Given the description of an element on the screen output the (x, y) to click on. 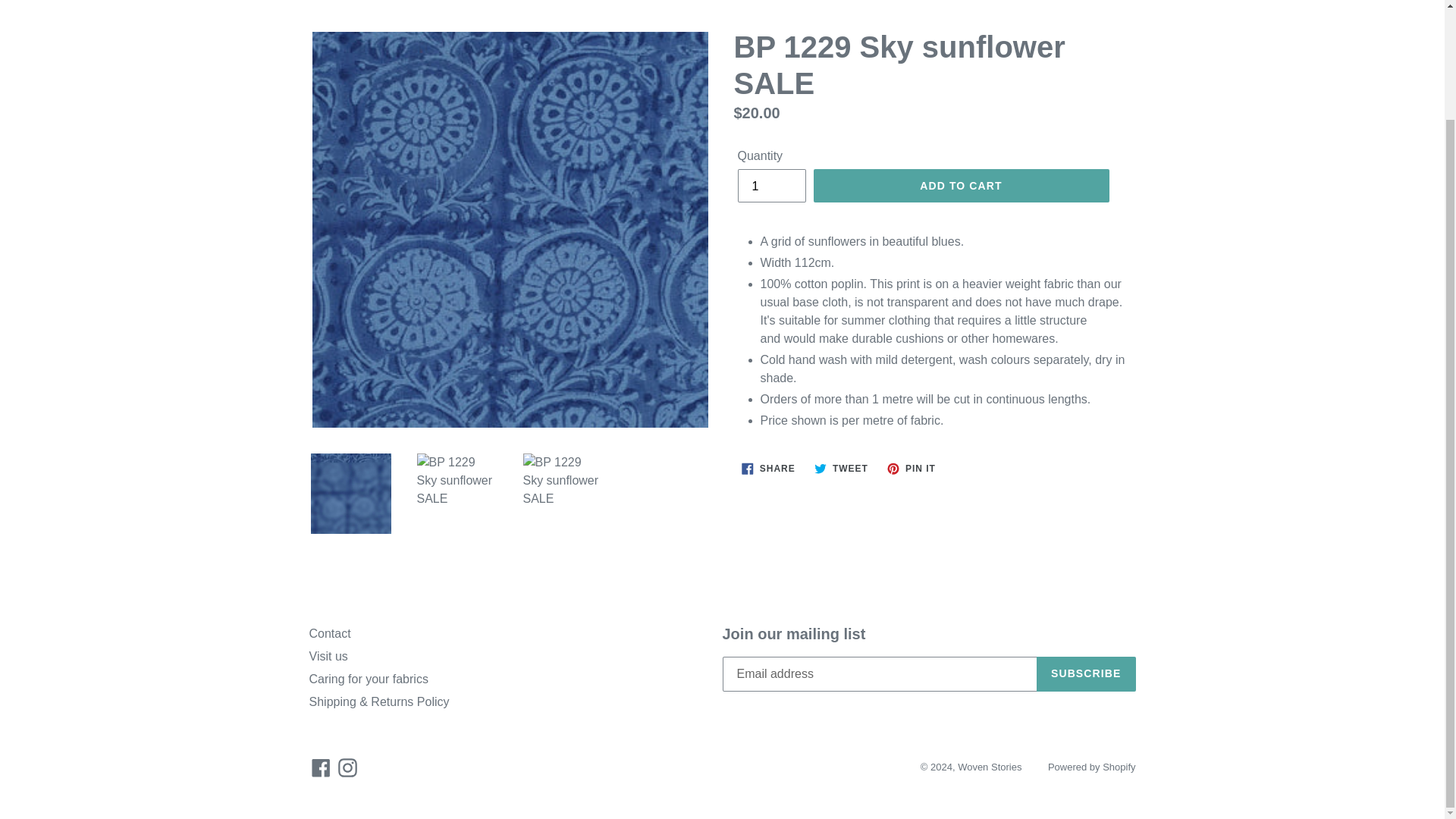
1 (770, 185)
